Given the description of an element on the screen output the (x, y) to click on. 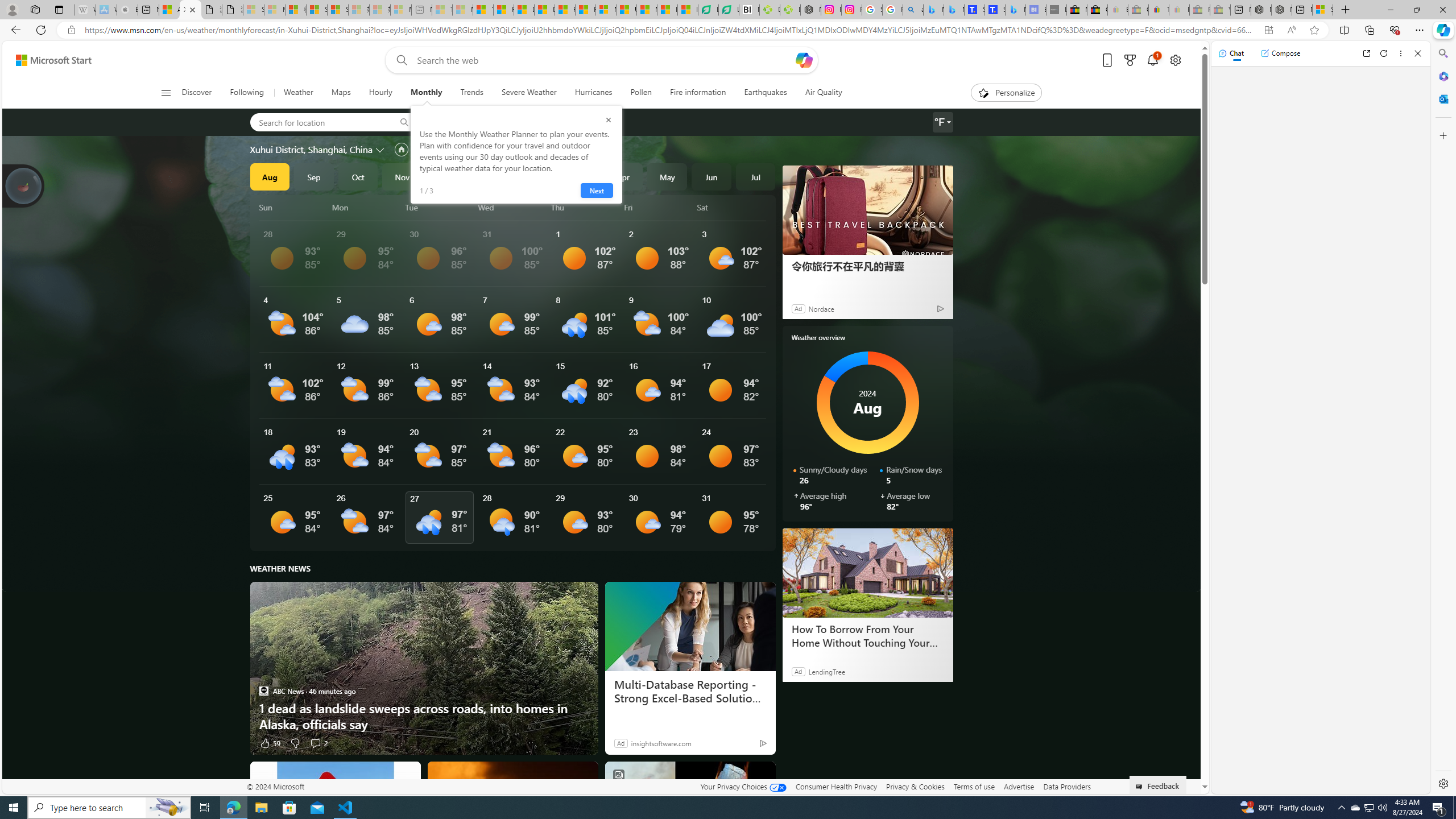
Monthly (426, 92)
2025Jan (490, 176)
Jun (710, 176)
Feb (534, 176)
Change location (381, 149)
